Given the description of an element on the screen output the (x, y) to click on. 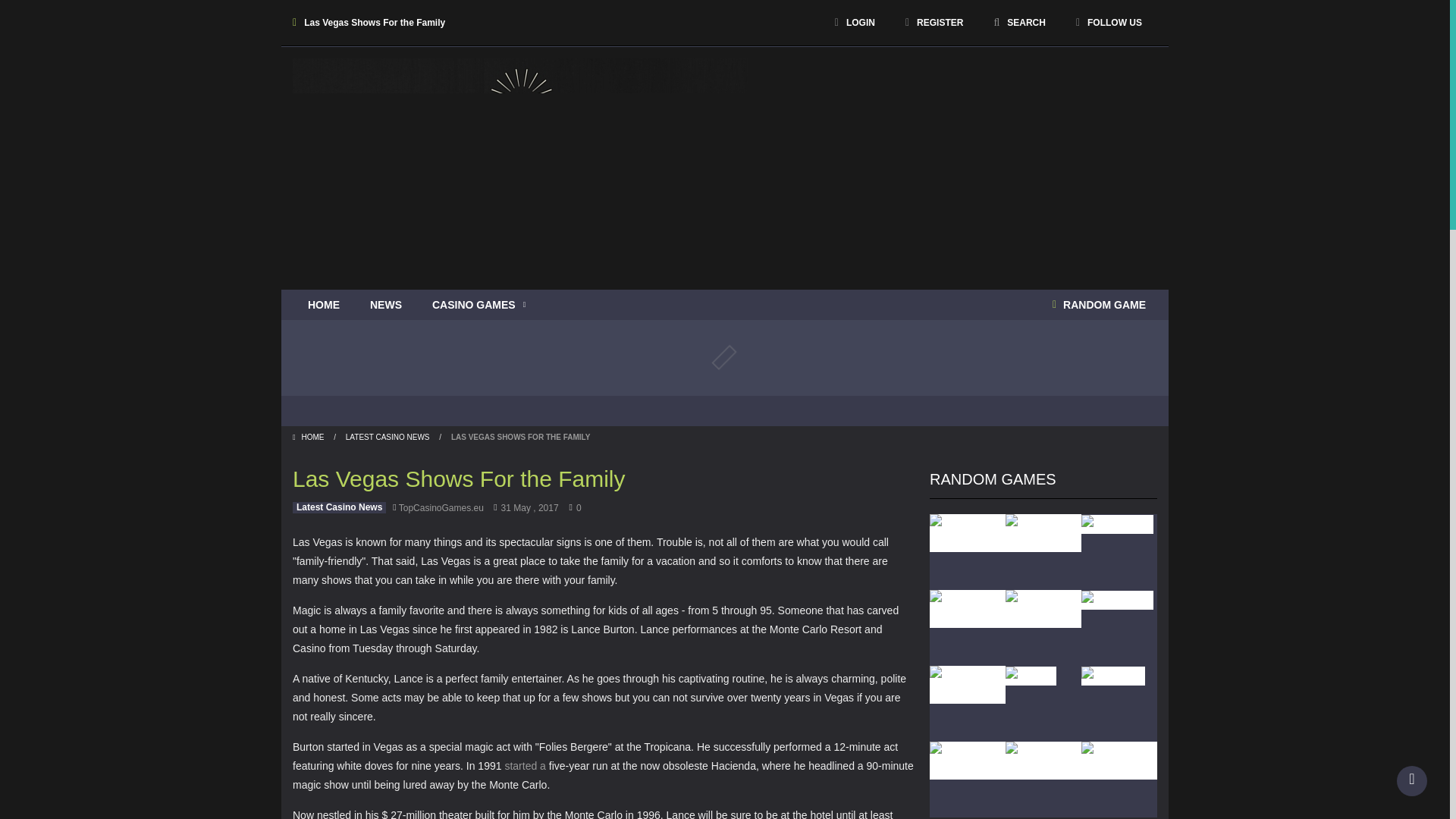
CASINO GAMES (478, 304)
Top Casino Games (520, 133)
HOME (323, 304)
LOGIN (855, 22)
FOLLOW US (1108, 22)
NEWS (385, 304)
SEARCH (1019, 22)
Top Casino Games (520, 133)
RANDOM GAME (1099, 304)
REGISTER (933, 22)
